Given the description of an element on the screen output the (x, y) to click on. 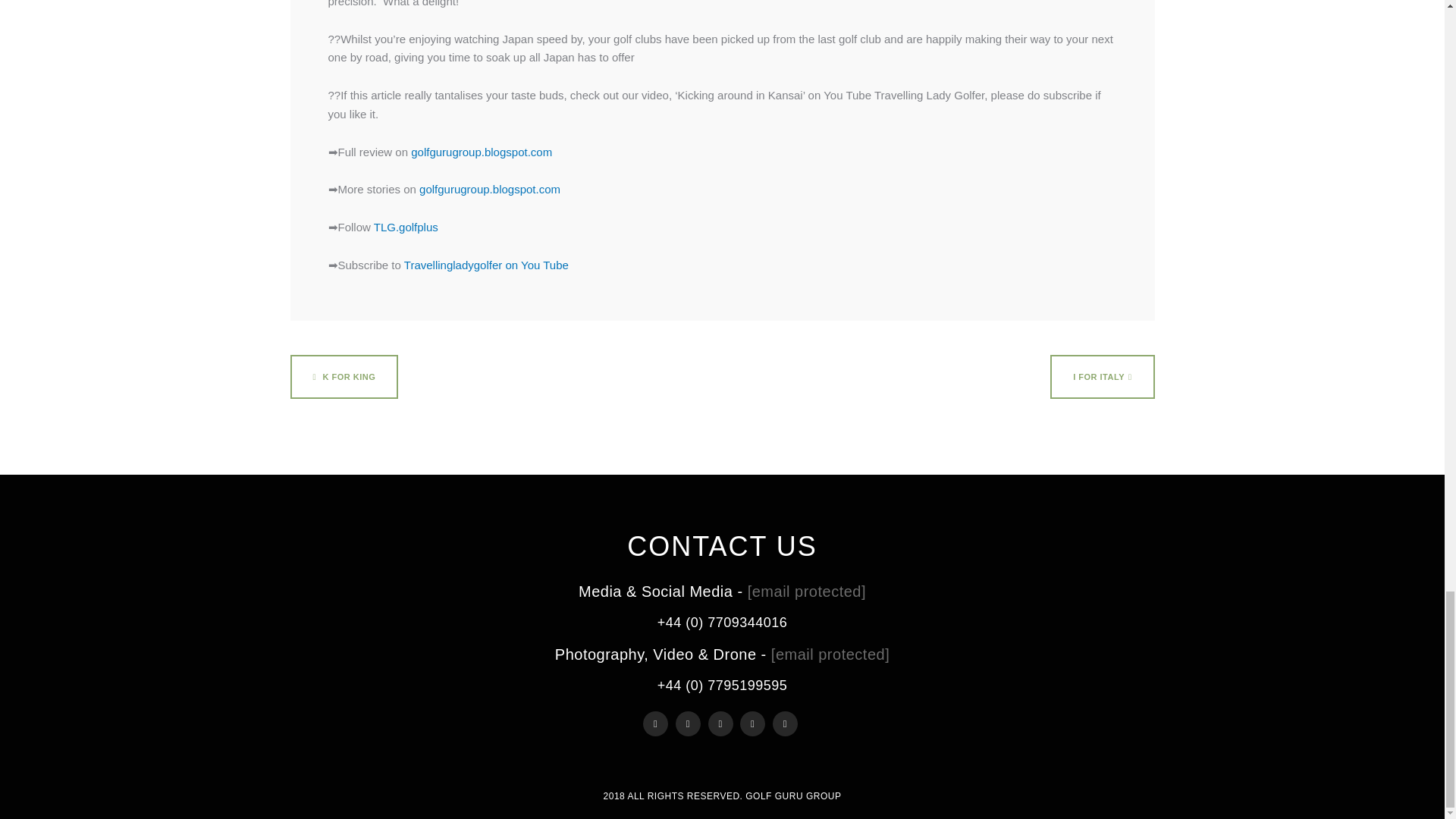
TLG.golfplus (406, 226)
K FOR KING (343, 376)
Travellingladygolfer on You Tube (486, 264)
I FOR ITALY (1101, 376)
golfgurugroup.blogspot.com (480, 151)
golfgurugroup.blogspot.com (489, 188)
